Given the description of an element on the screen output the (x, y) to click on. 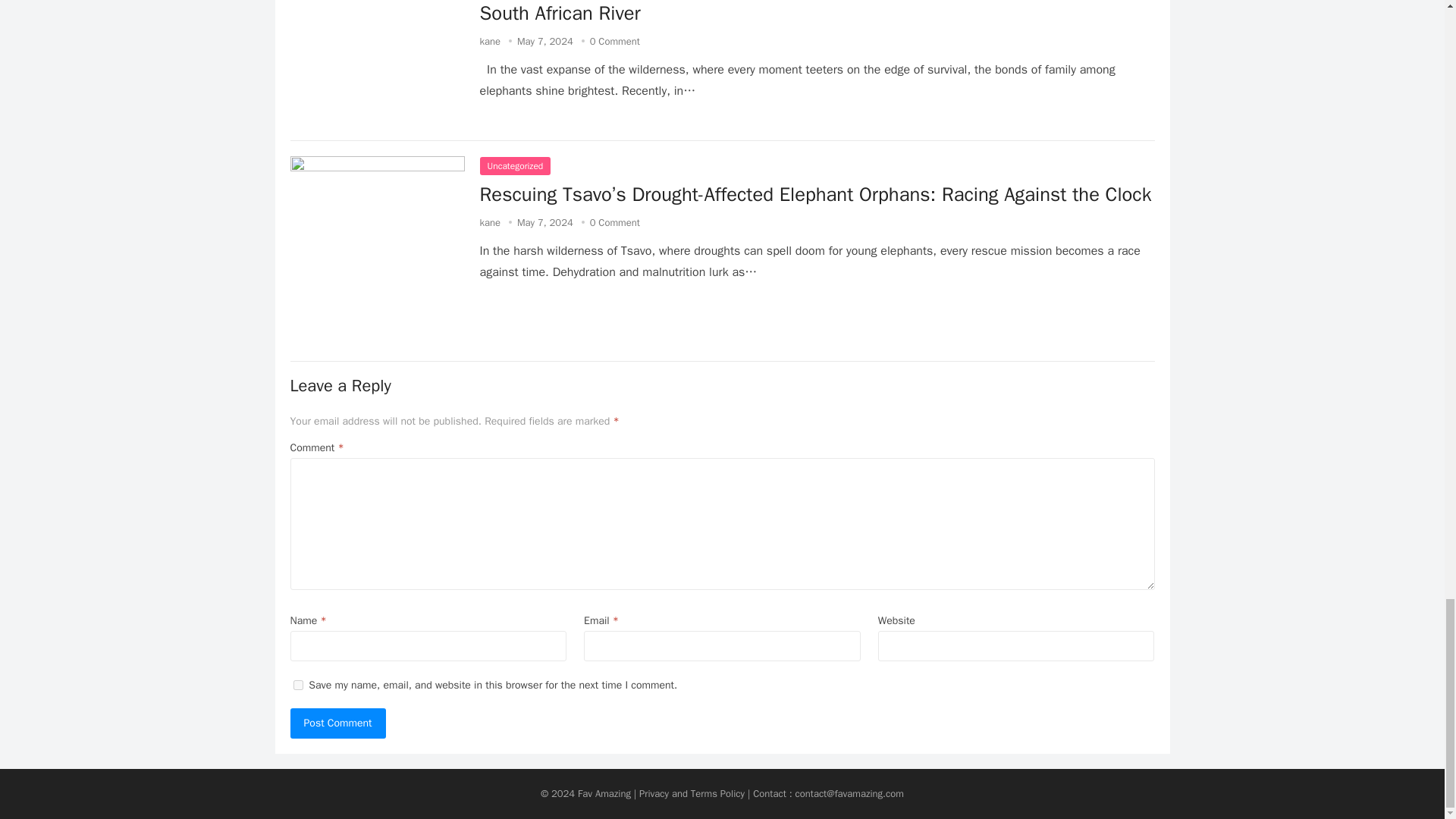
Posts by kane (489, 41)
yes (297, 685)
Posts by kane (489, 222)
Post Comment (337, 723)
